Given the description of an element on the screen output the (x, y) to click on. 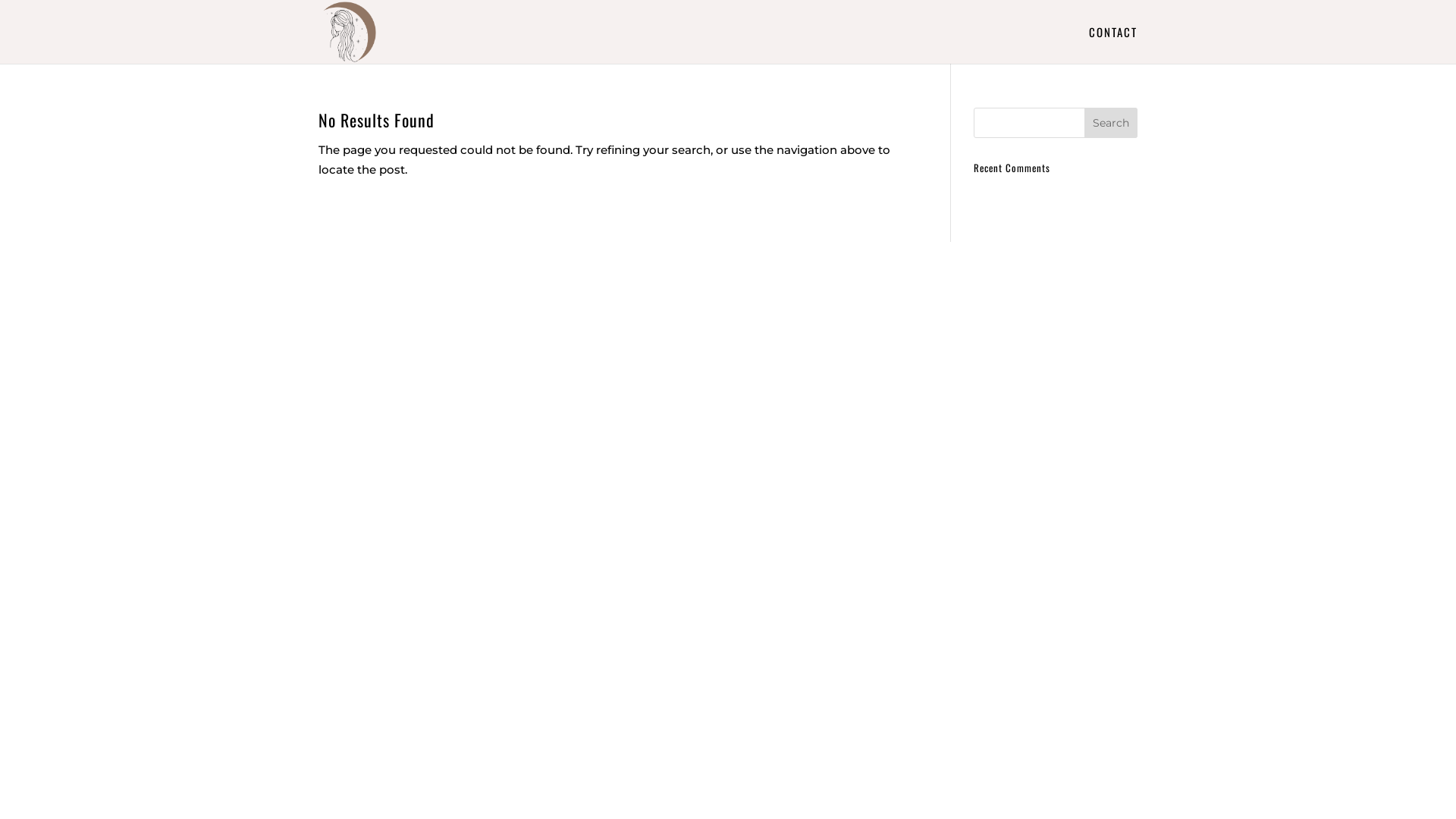
CONTACT Element type: text (1112, 44)
Search Element type: text (1110, 122)
